Given the description of an element on the screen output the (x, y) to click on. 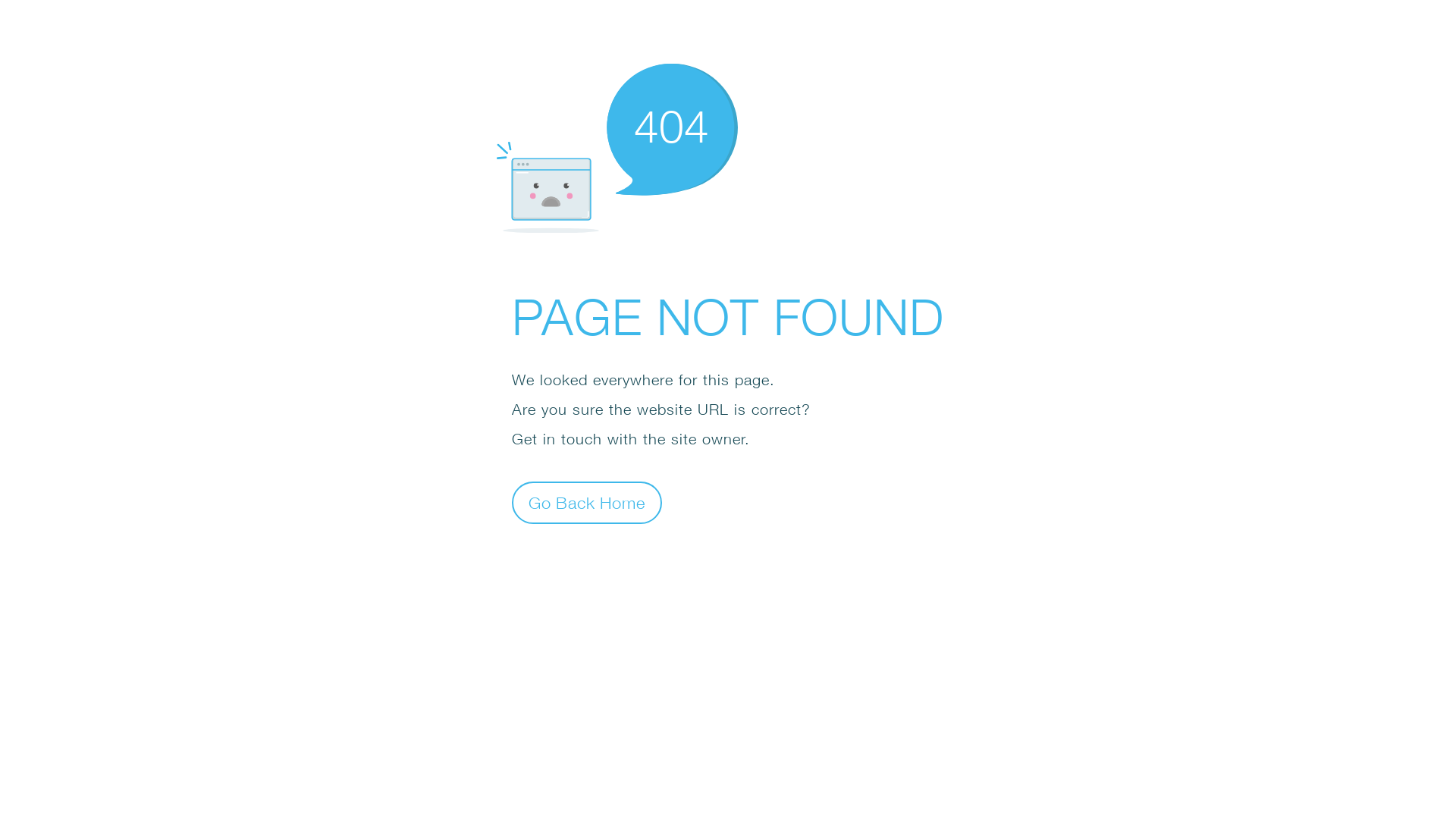
Go Back Home Element type: text (586, 502)
